Given the description of an element on the screen output the (x, y) to click on. 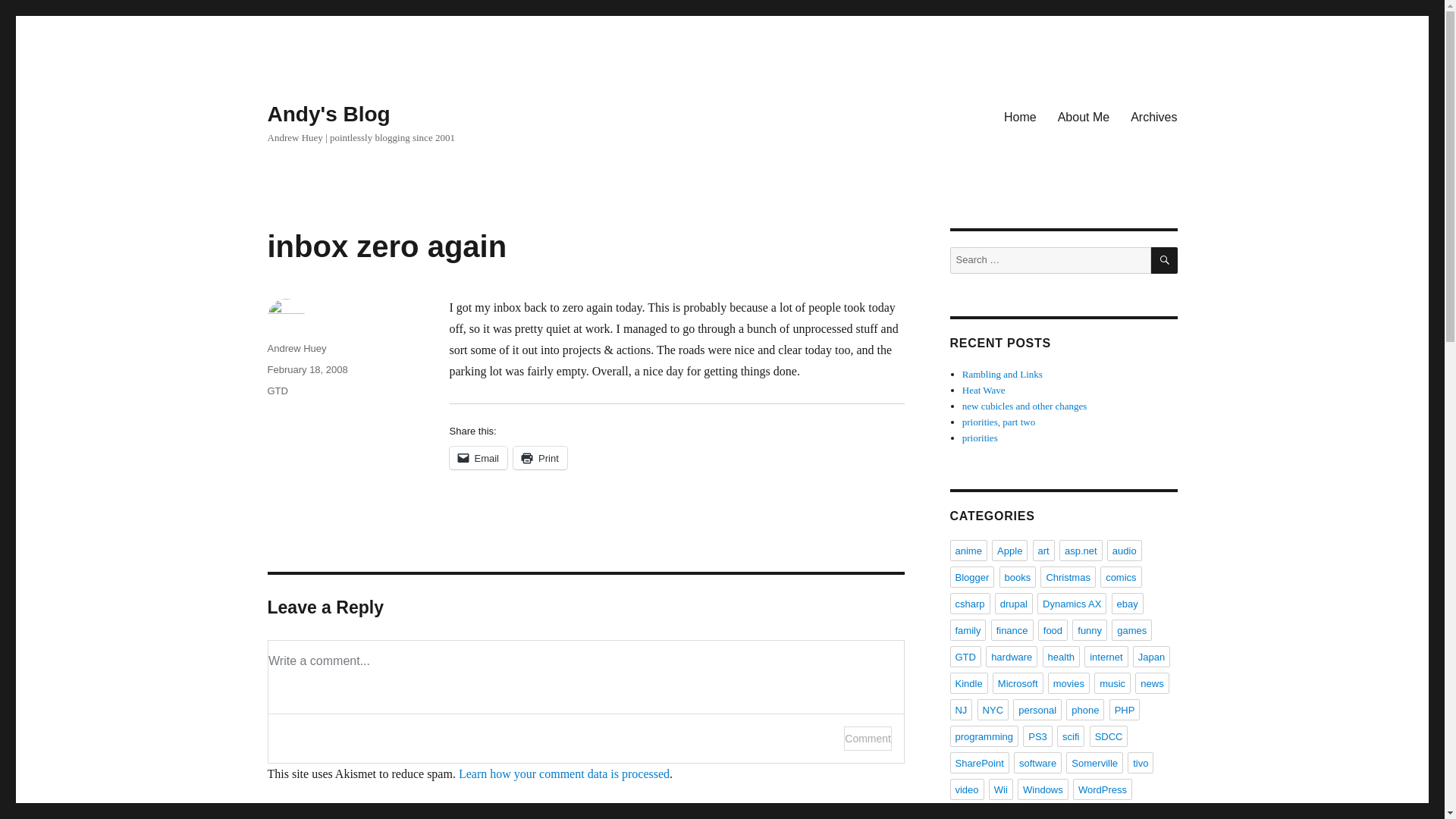
audio (1123, 550)
Home (1019, 116)
csharp (969, 603)
comics (1120, 577)
anime (968, 550)
Archives (1153, 116)
Andrew Huey (296, 348)
February 18, 2008 (306, 369)
priorities, part two (998, 421)
Click to email a link to a friend (477, 457)
Andy's Blog (328, 114)
Blogger (971, 577)
Heat Wave (984, 389)
Apple (1009, 550)
Print (540, 457)
